Given the description of an element on the screen output the (x, y) to click on. 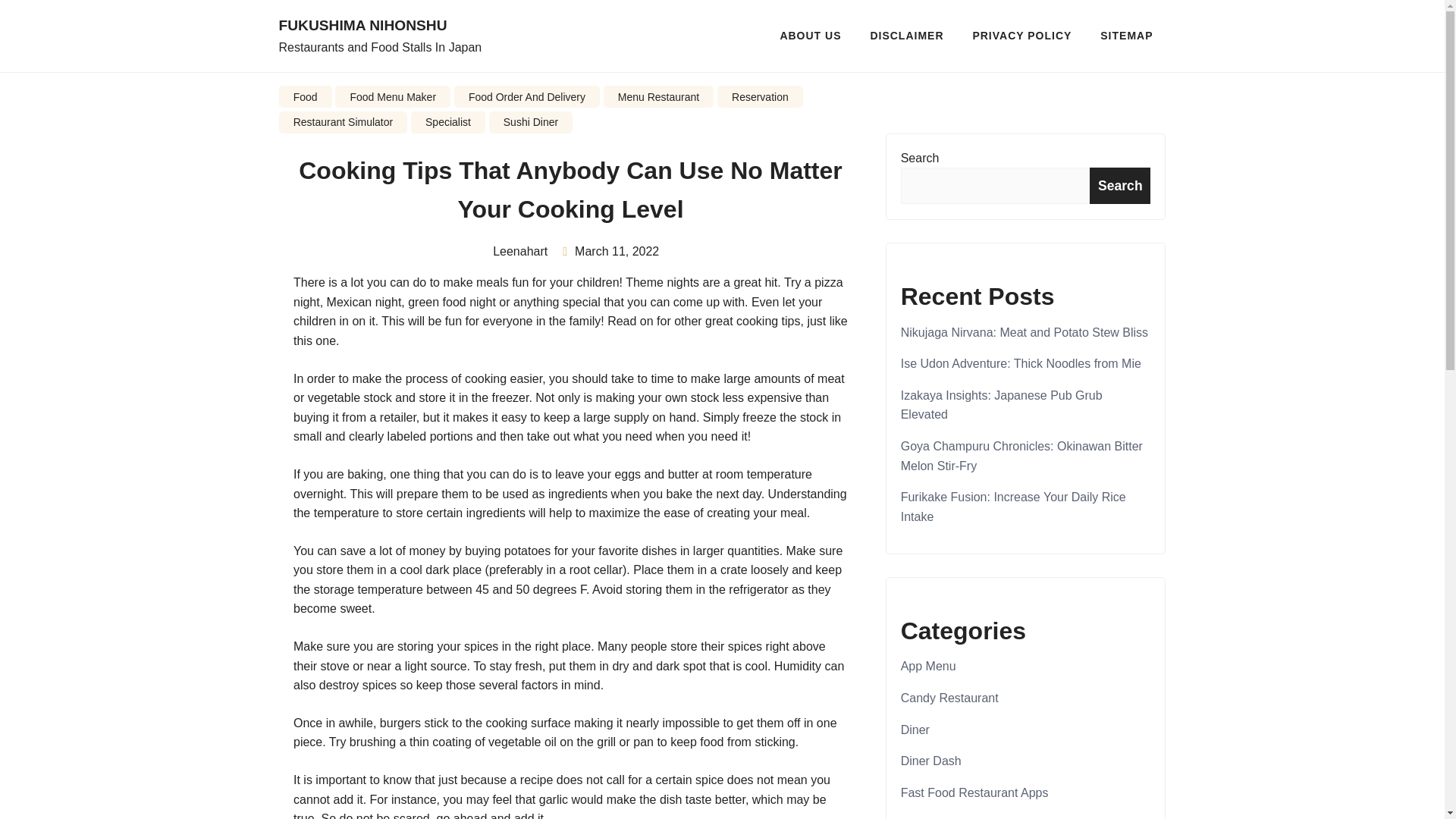
Menu Restaurant (659, 96)
Food Menu Maker (391, 96)
PRIVACY POLICY (1021, 35)
Furikake Fusion: Increase Your Daily Rice Intake (1013, 506)
Restaurant Simulator (343, 122)
Izakaya Insights: Japanese Pub Grub Elevated (1001, 405)
SITEMAP (1126, 35)
Leenahart (514, 251)
Search (1119, 185)
ABOUT US (810, 35)
Food (914, 818)
Food Order And Delivery (526, 96)
Goya Champuru Chronicles: Okinawan Bitter Melon Stir-Fry (1021, 455)
Nikujaga Nirvana: Meat and Potato Stew Bliss (1024, 332)
Reservation (760, 96)
